Given the description of an element on the screen output the (x, y) to click on. 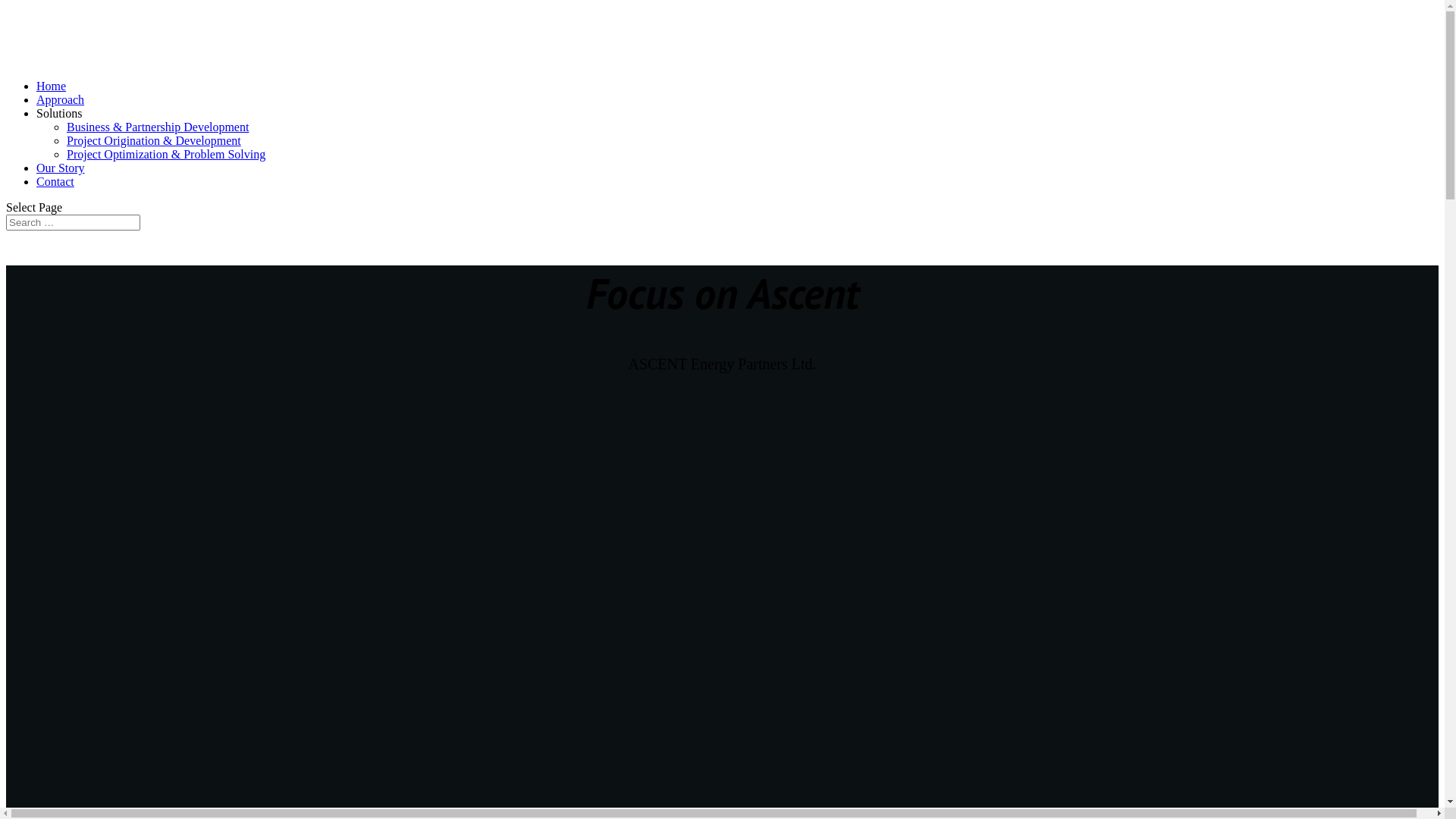
Contact Element type: text (55, 181)
Approach Element type: text (60, 99)
Search for: Element type: hover (73, 222)
Project Origination & Development Element type: text (153, 140)
Home Element type: text (50, 85)
Our Story Element type: text (60, 167)
Solutions Element type: text (58, 112)
Business & Partnership Development Element type: text (157, 126)
Project Optimization & Problem Solving Element type: text (165, 153)
